Given the description of an element on the screen output the (x, y) to click on. 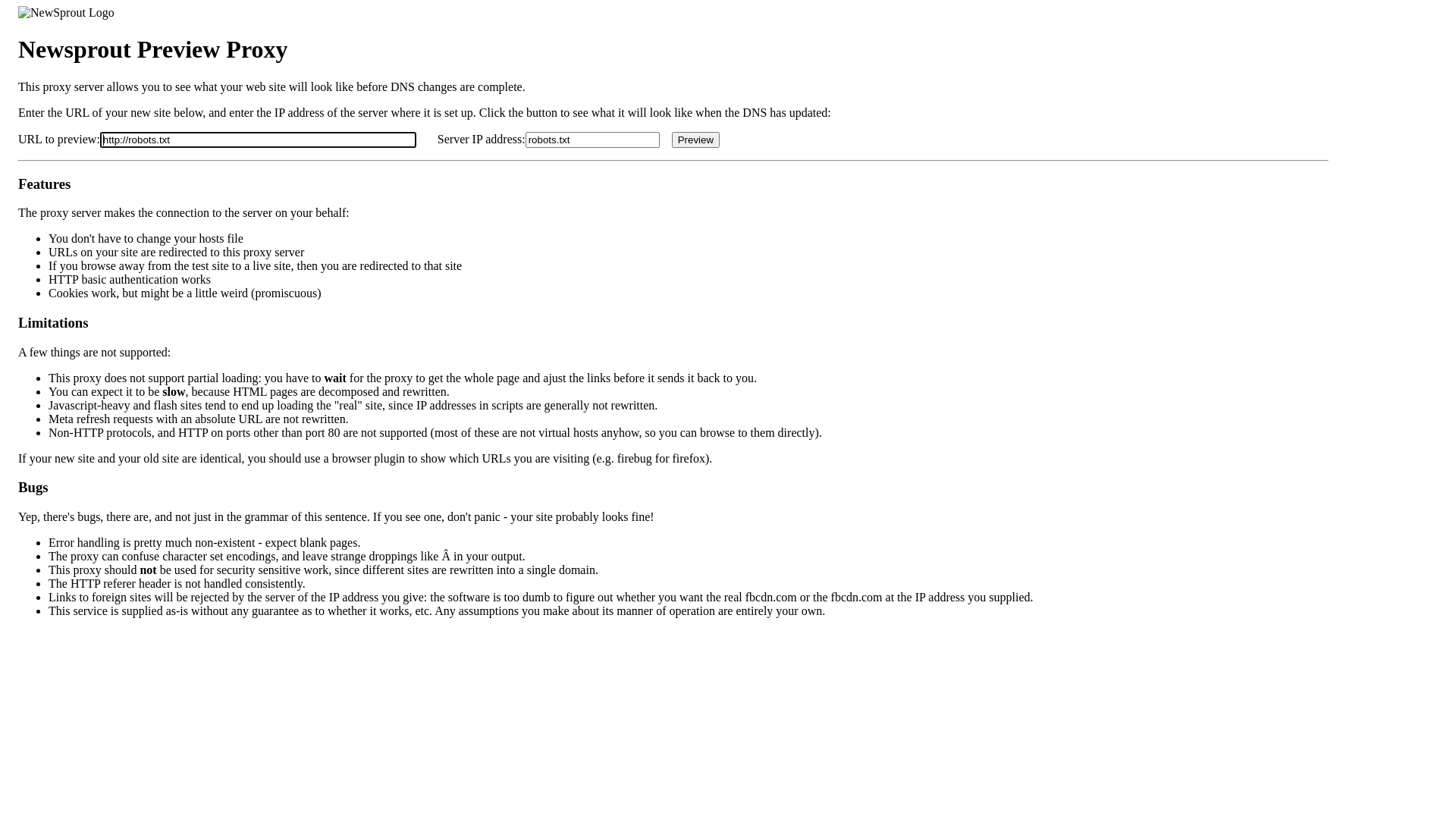
Advertisement Element type: hover (1388, 387)
Preview Element type: text (695, 139)
